Given the description of an element on the screen output the (x, y) to click on. 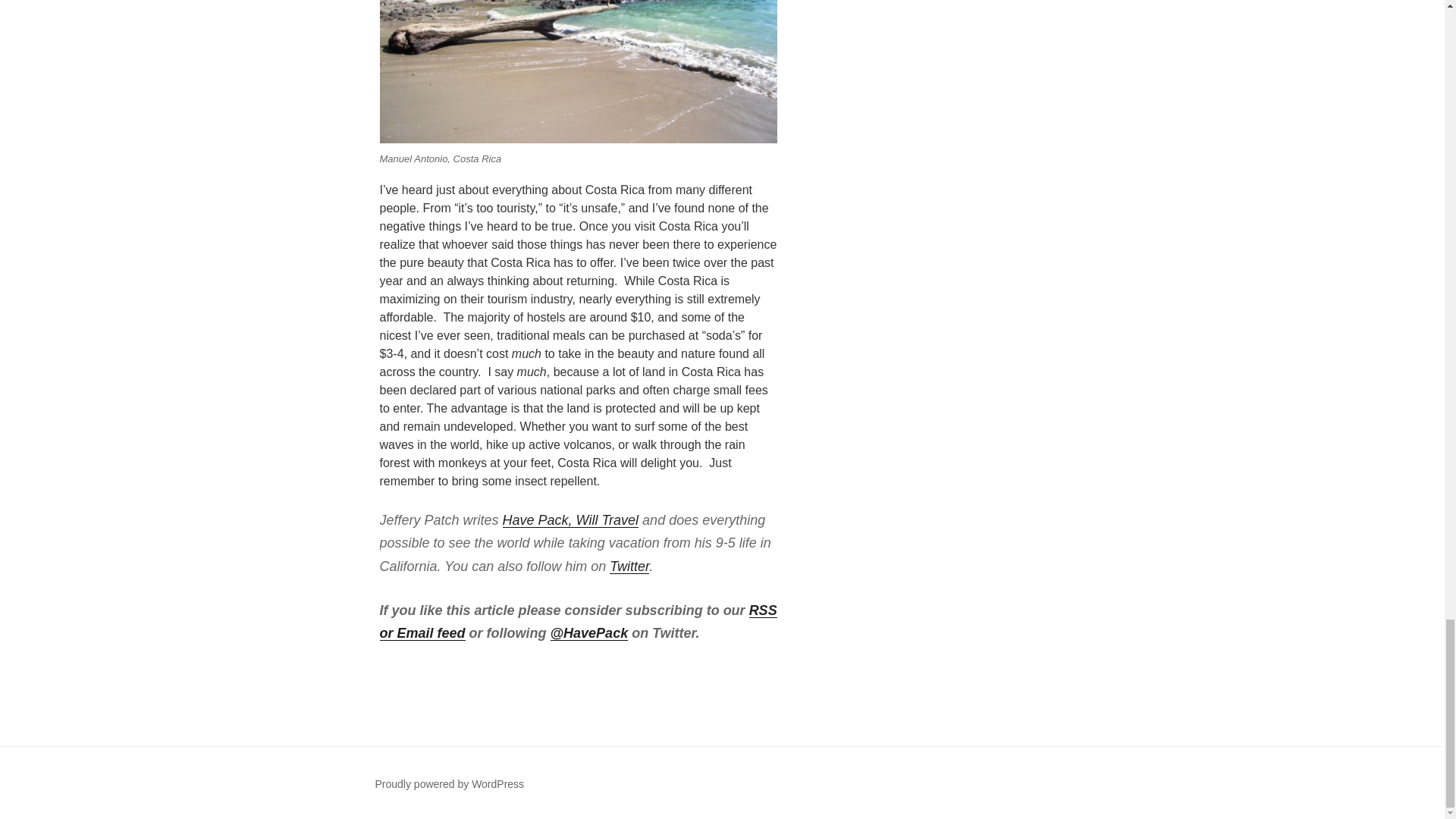
Have Pack, Will Travel (570, 519)
dscn0798 (577, 71)
Have Pack, Will Travel (570, 519)
Twitter (629, 566)
HavePack FeedBurner Feed (577, 621)
Proudly powered by WordPress (449, 784)
RSS or Email feed (577, 621)
